Given the description of an element on the screen output the (x, y) to click on. 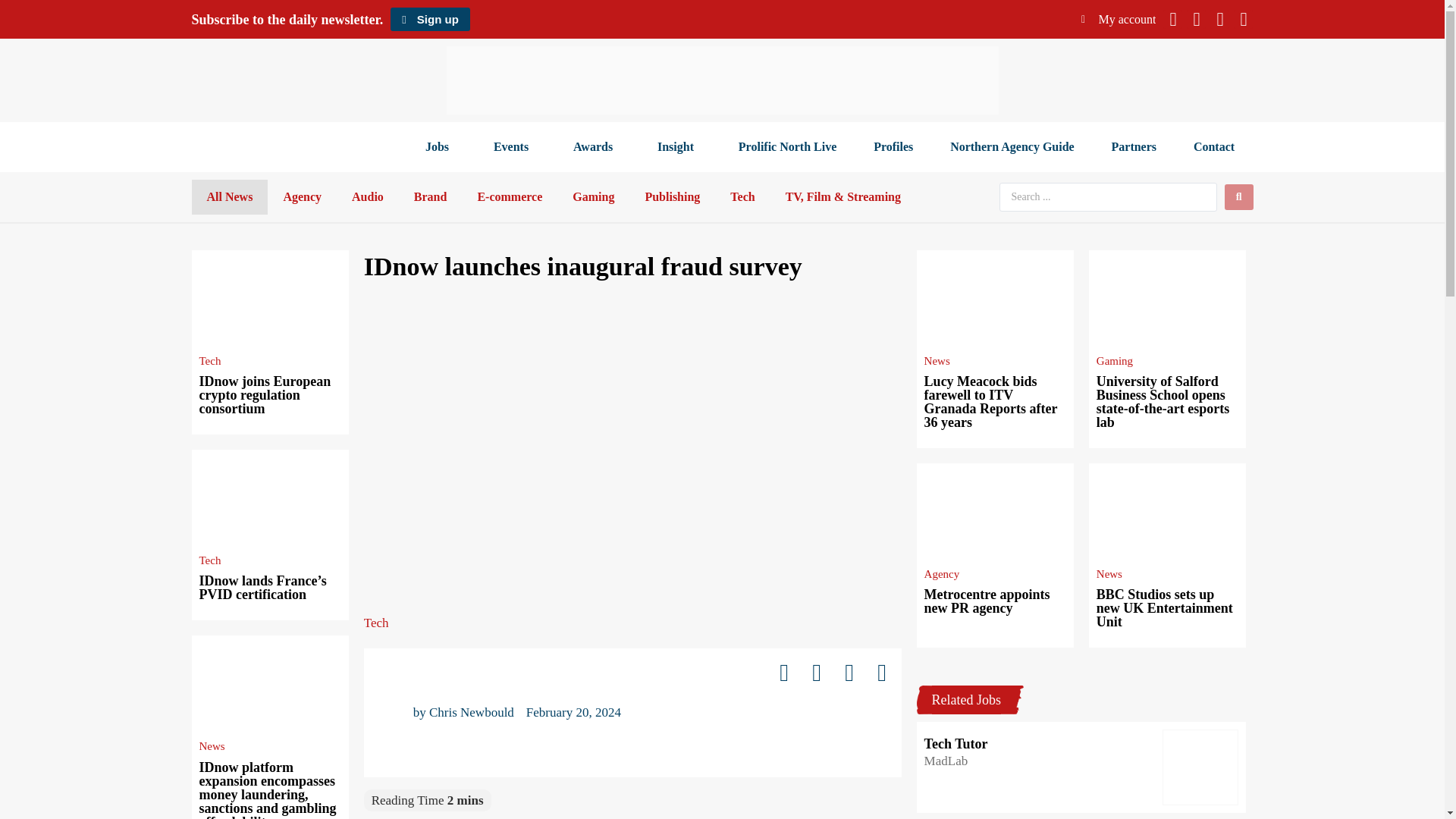
Events (514, 146)
My account (1118, 19)
Sign up (429, 19)
Awards (596, 146)
Jobs (440, 146)
